Given the description of an element on the screen output the (x, y) to click on. 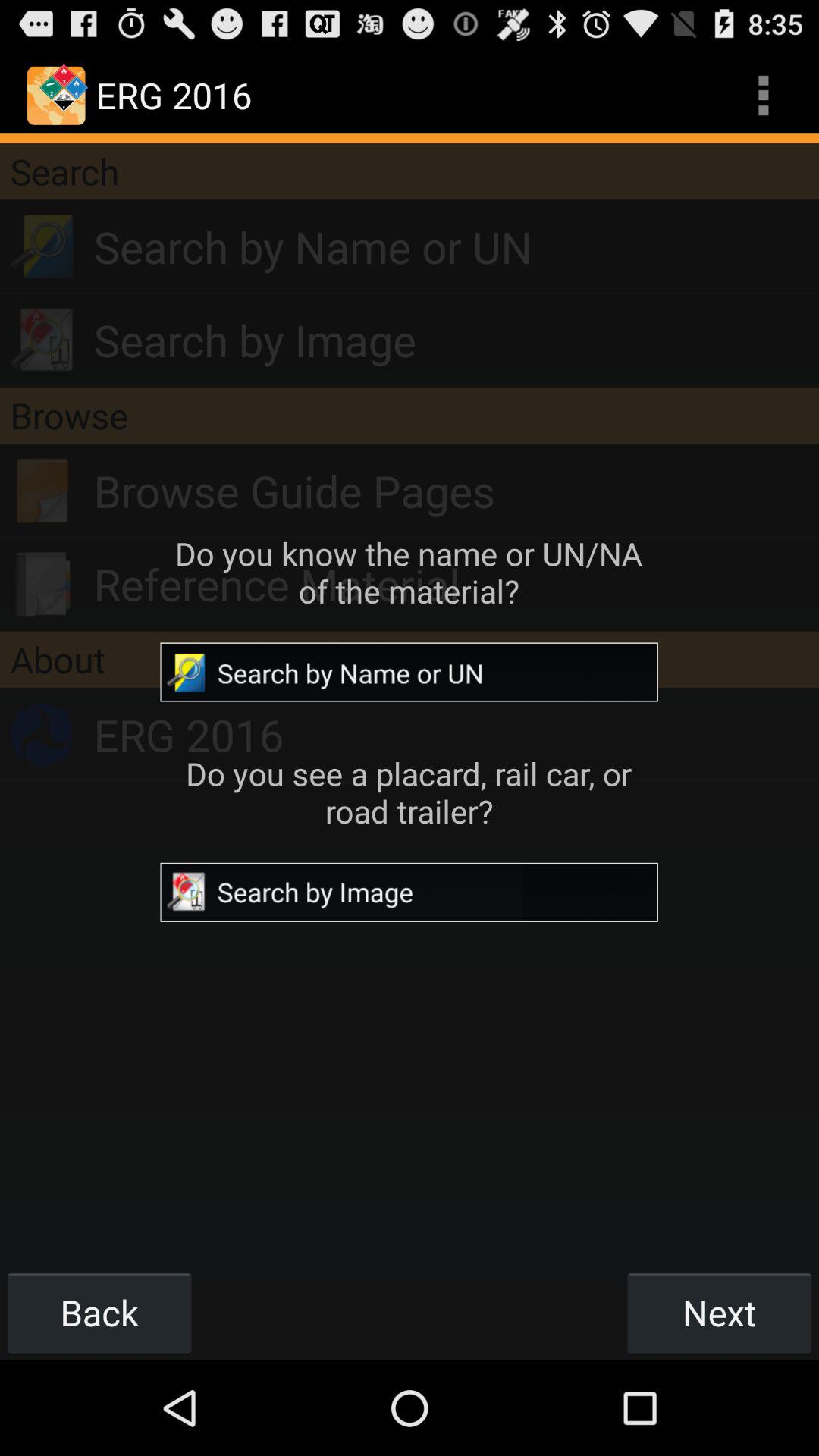
press icon at the bottom right corner (719, 1312)
